Given the description of an element on the screen output the (x, y) to click on. 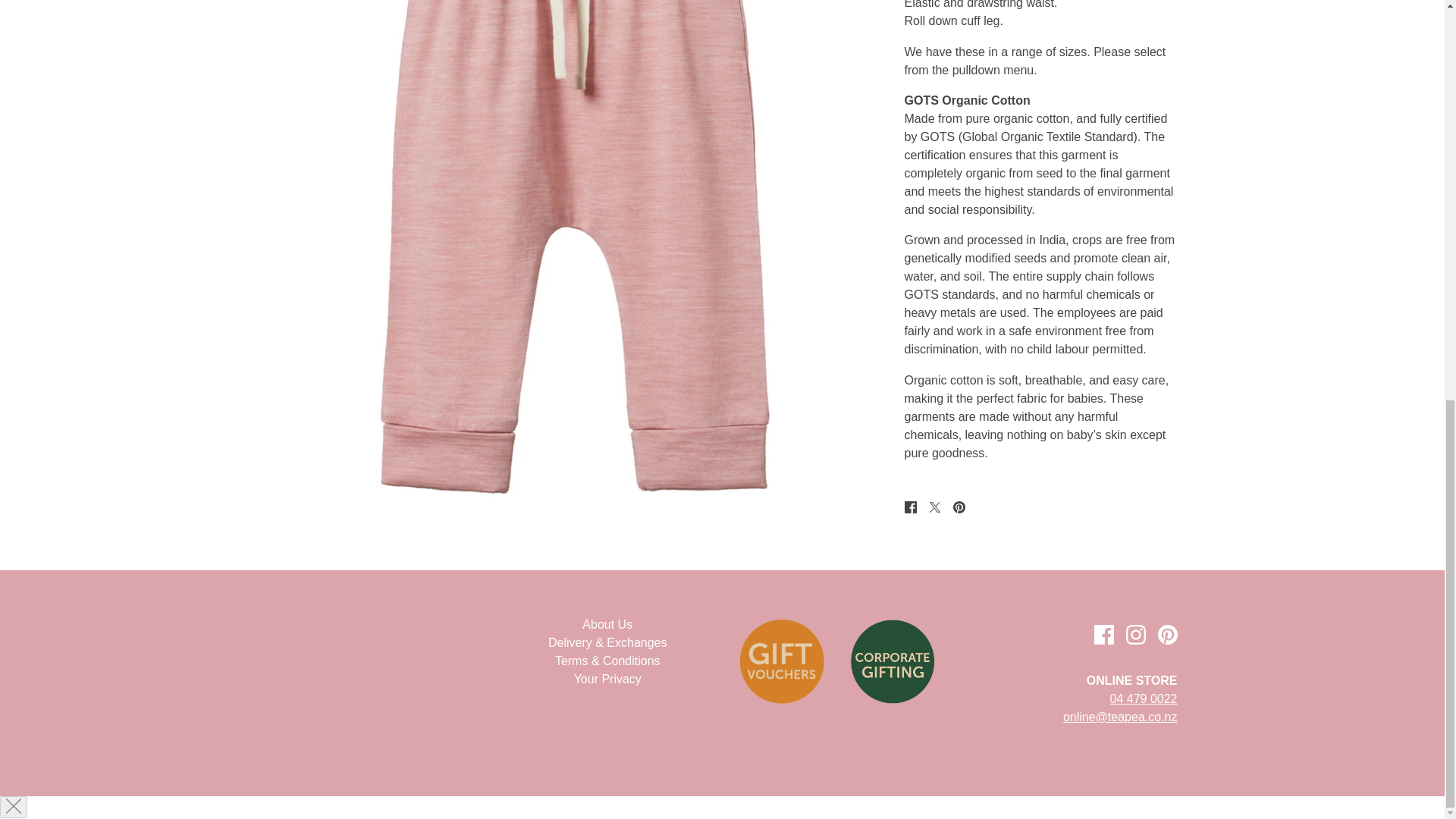
About Us (606, 624)
Corporate Gifting (892, 661)
Phone now (1143, 698)
Your Privacy (607, 678)
Gift Cards (781, 661)
